Given the description of an element on the screen output the (x, y) to click on. 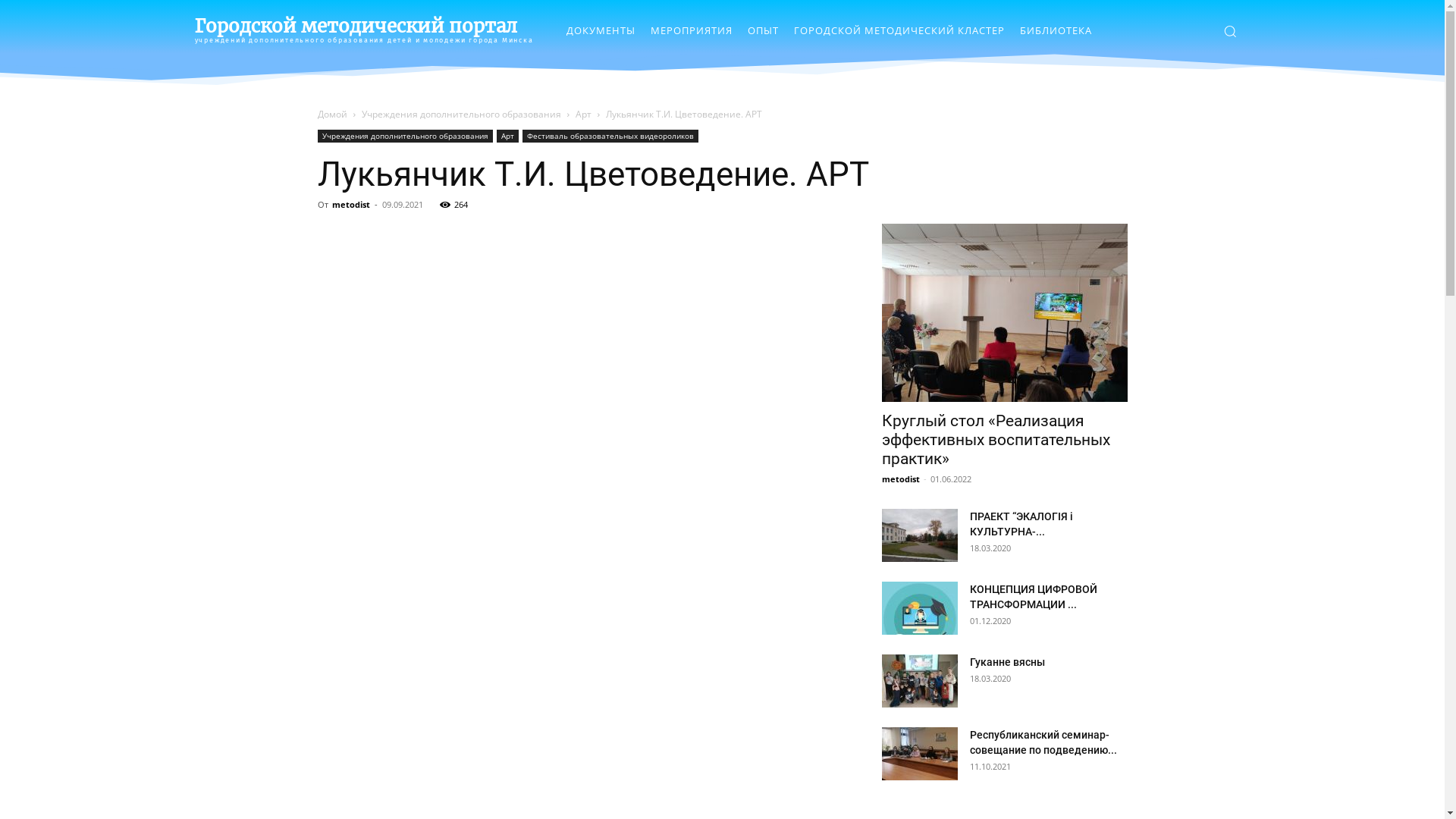
metodist Element type: text (351, 204)
metodist Element type: text (900, 478)
